Given the description of an element on the screen output the (x, y) to click on. 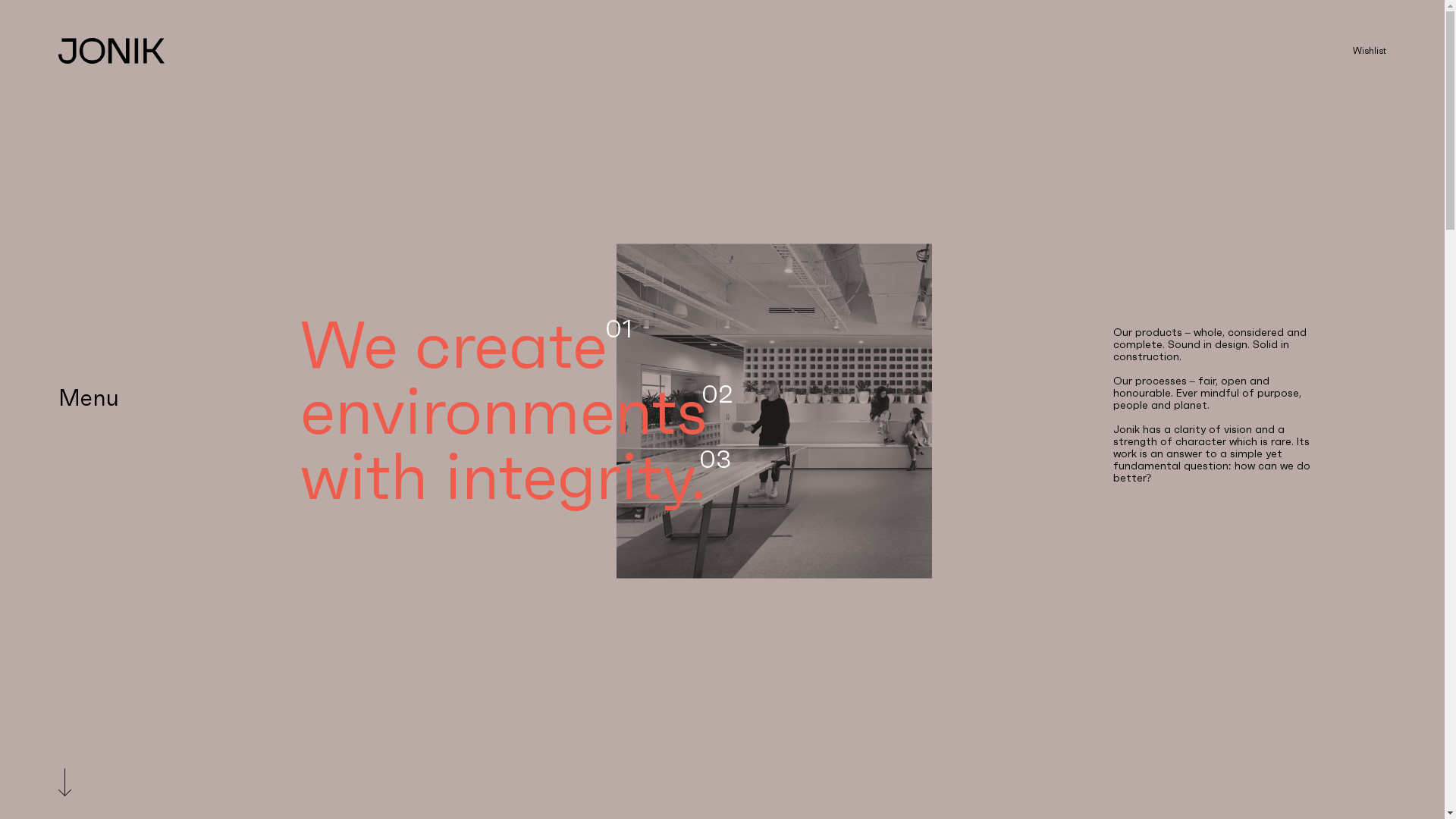
Wishlist Element type: text (1369, 50)
Contact Element type: text (393, 477)
Projects Element type: text (393, 352)
About Element type: text (393, 435)
Co Create Element type: text (393, 393)
